Given the description of an element on the screen output the (x, y) to click on. 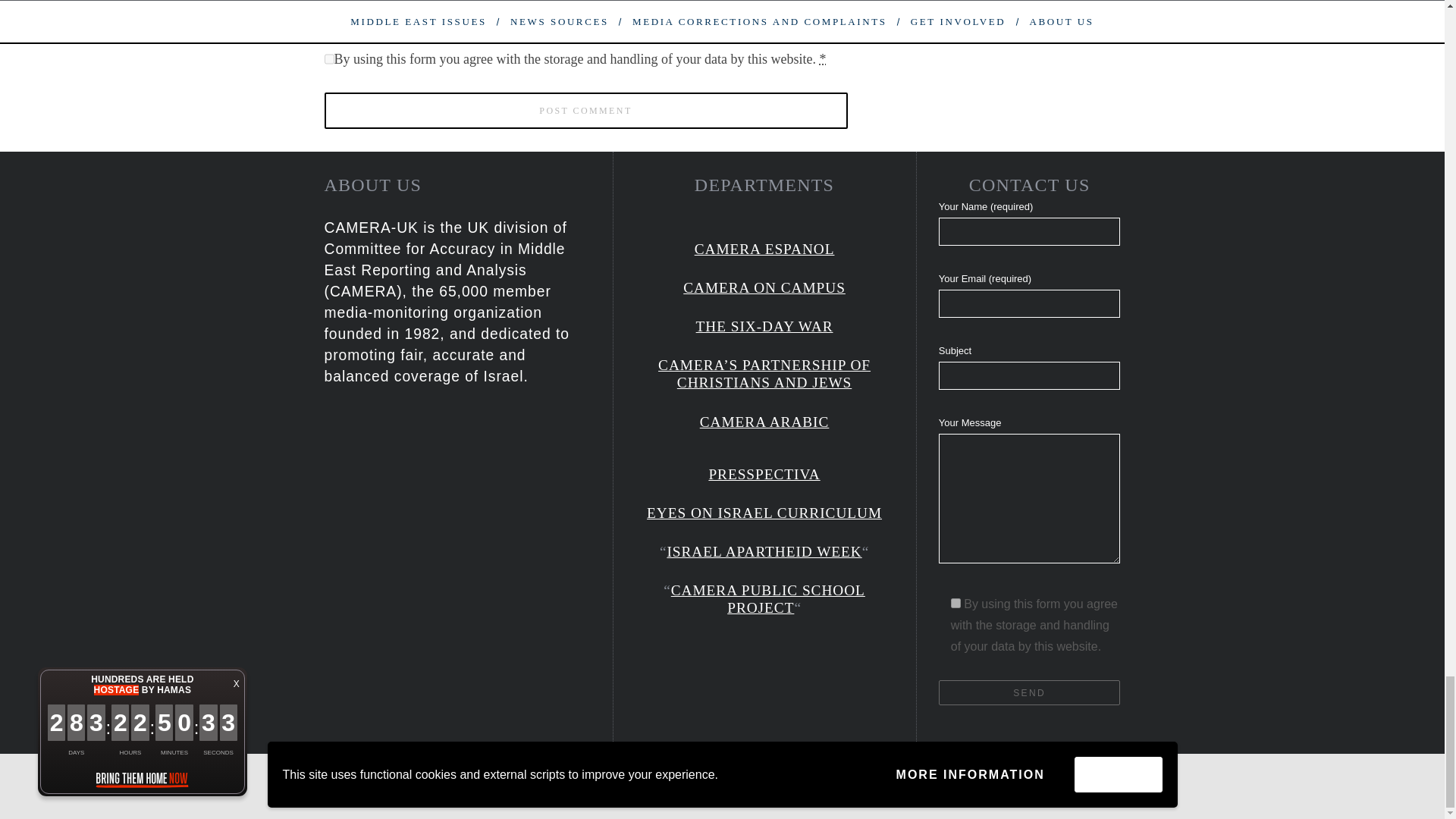
1 (955, 603)
Post Comment (585, 110)
yes (329, 14)
